Given the description of an element on the screen output the (x, y) to click on. 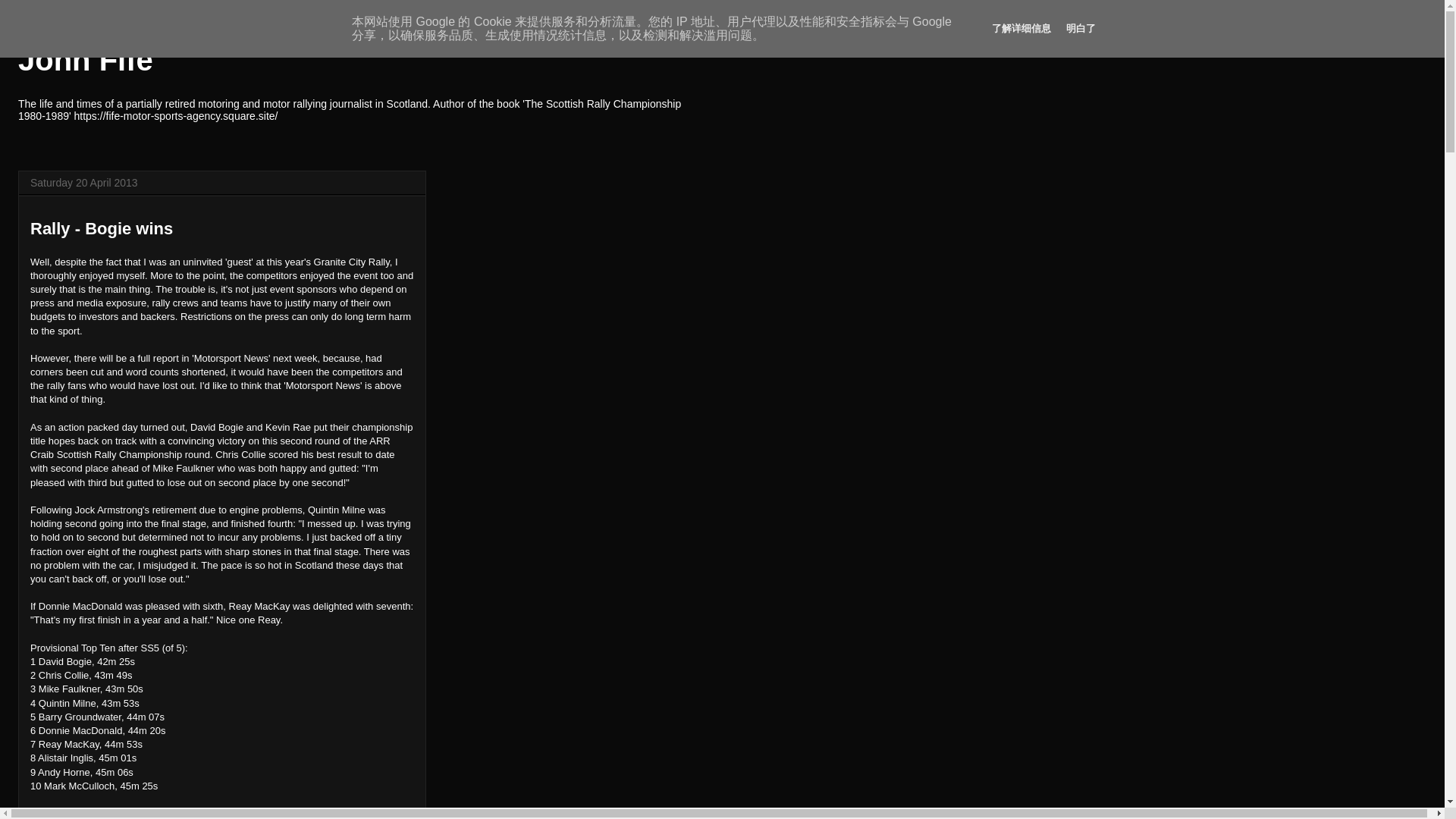
author profile (98, 815)
John Fife (98, 815)
Edit Post (164, 815)
permanent link (143, 815)
17:17 (143, 815)
John Fife (84, 59)
